Given the description of an element on the screen output the (x, y) to click on. 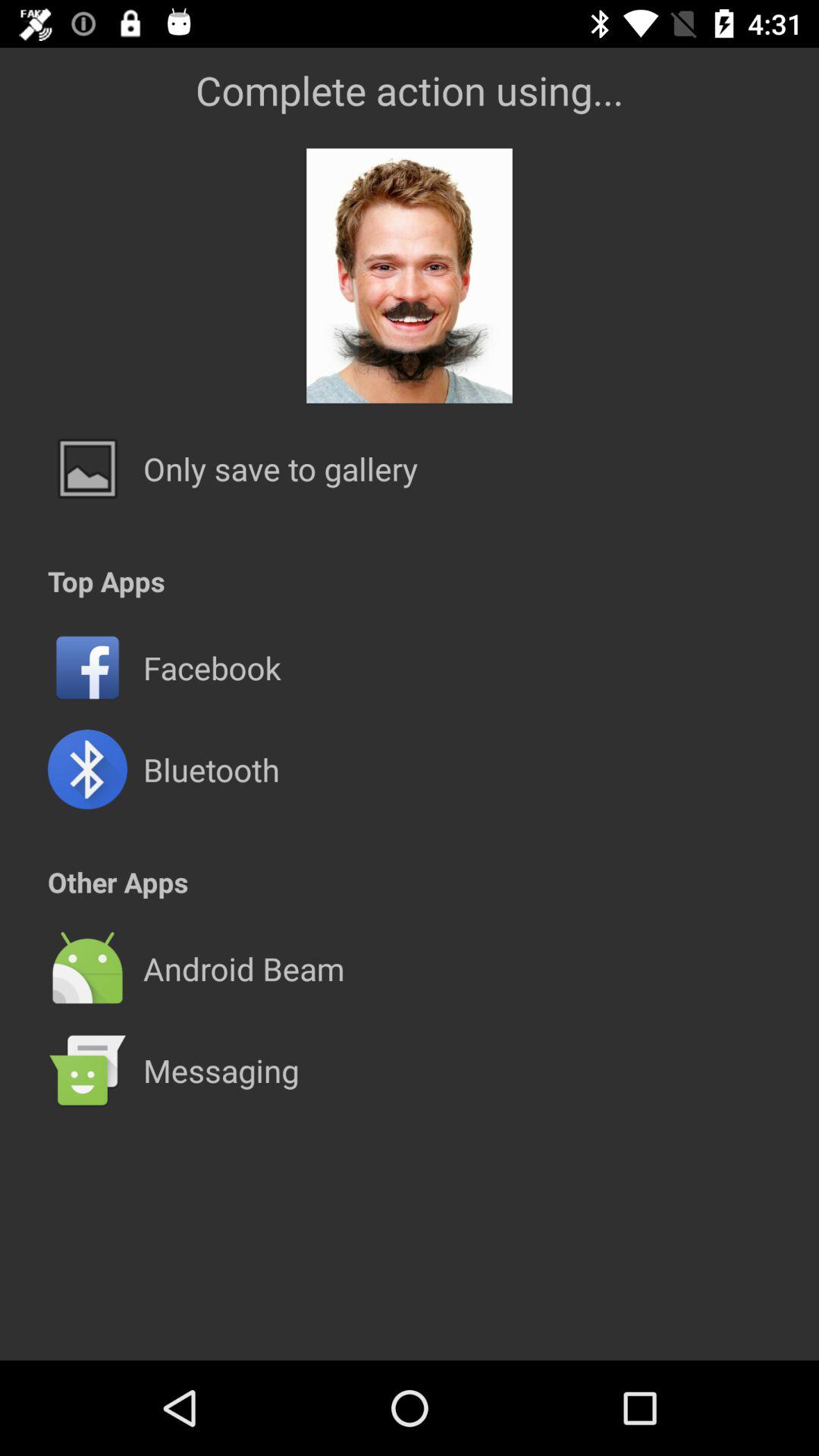
flip until messaging item (221, 1070)
